Given the description of an element on the screen output the (x, y) to click on. 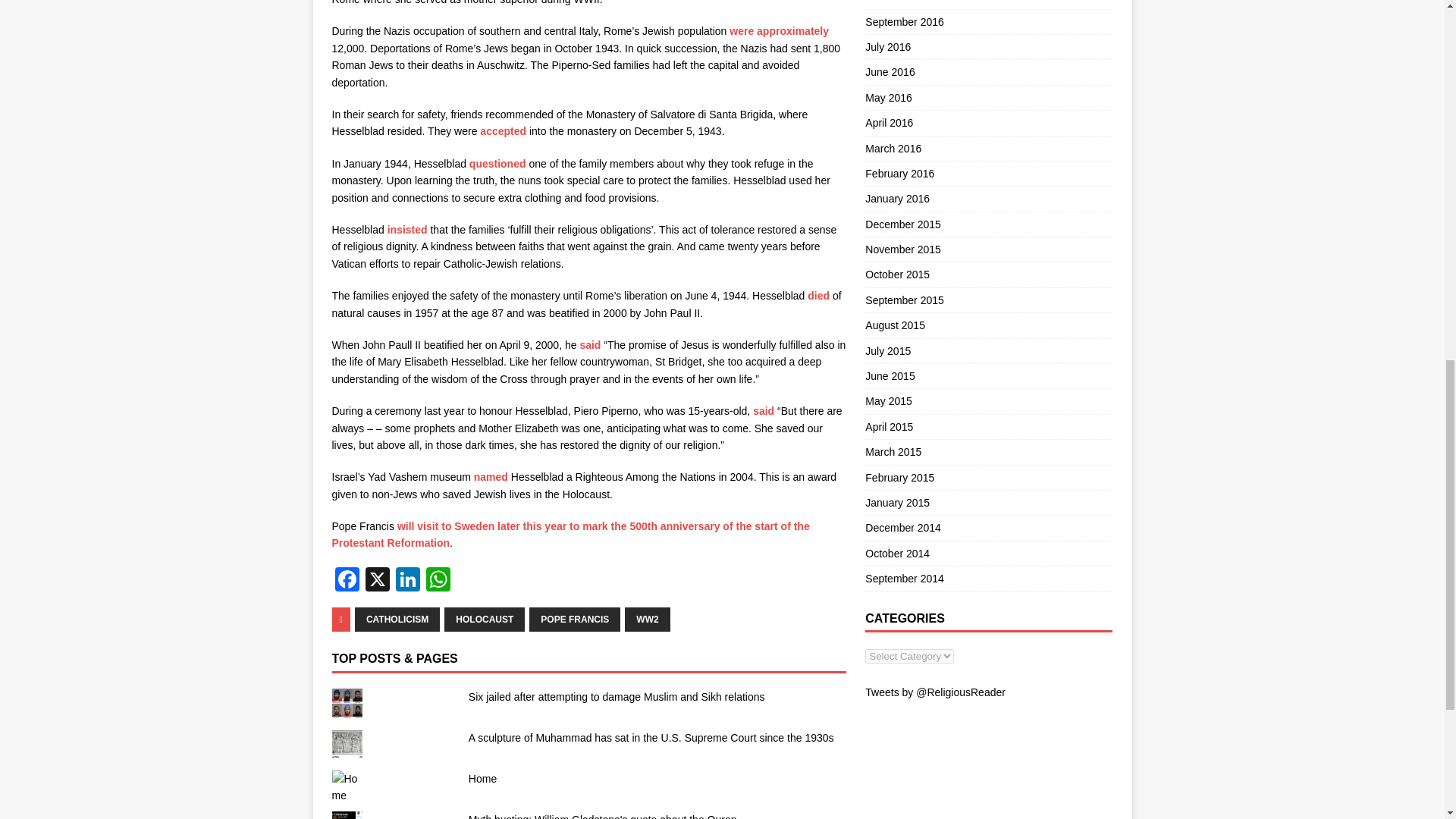
were approximately (778, 30)
X (377, 581)
said (591, 345)
Home (482, 778)
insisted (406, 229)
questioned (496, 163)
accepted (502, 131)
LinkedIn (408, 581)
WhatsApp (437, 581)
Facebook (346, 581)
died (818, 295)
